Given the description of an element on the screen output the (x, y) to click on. 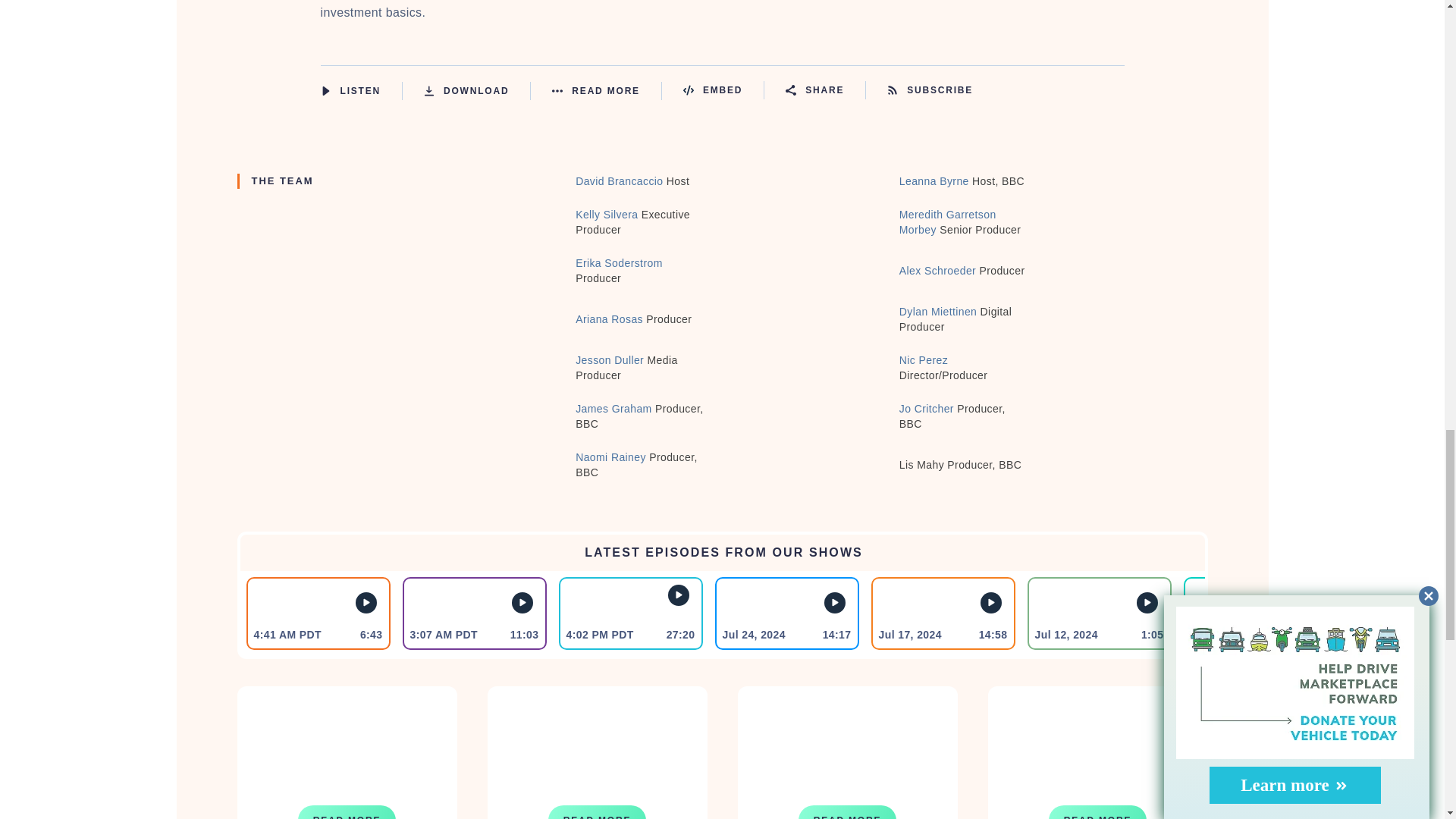
LISTEN (325, 90)
Listen Now (360, 90)
